Given the description of an element on the screen output the (x, y) to click on. 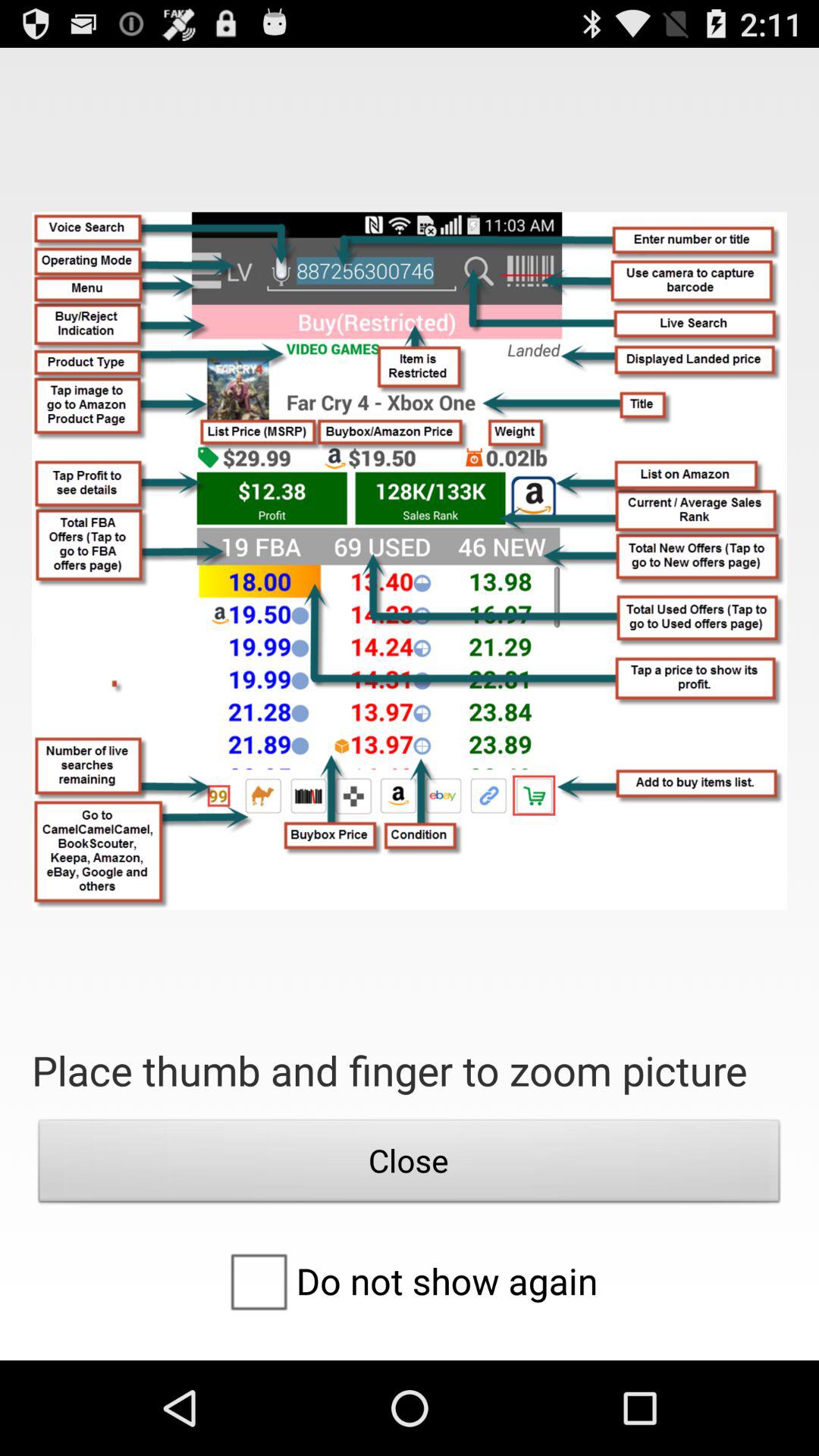
click the do not show item (408, 1280)
